Given the description of an element on the screen output the (x, y) to click on. 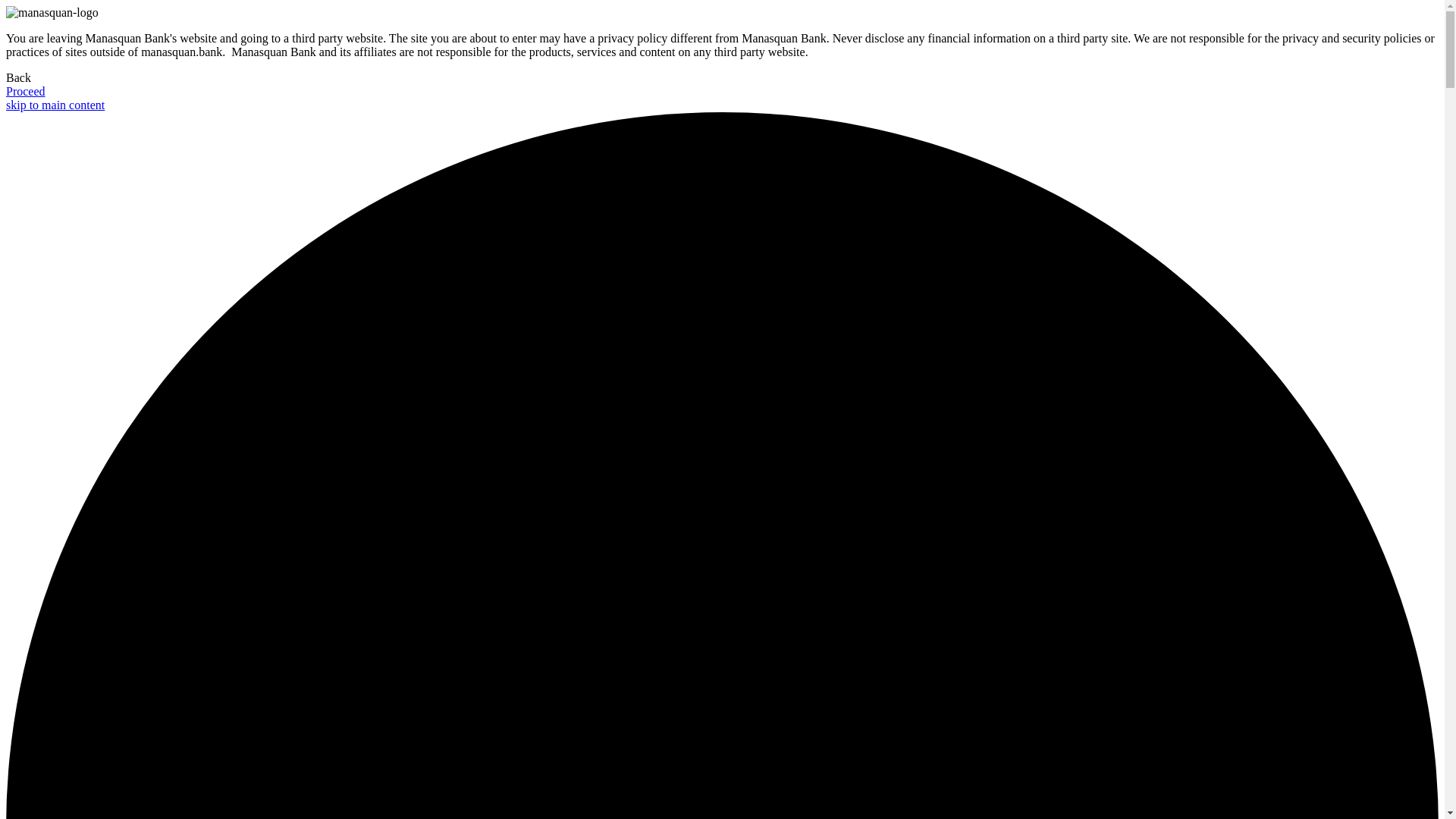
Proceed (25, 91)
Back (17, 77)
skip to main content (54, 104)
